Given the description of an element on the screen output the (x, y) to click on. 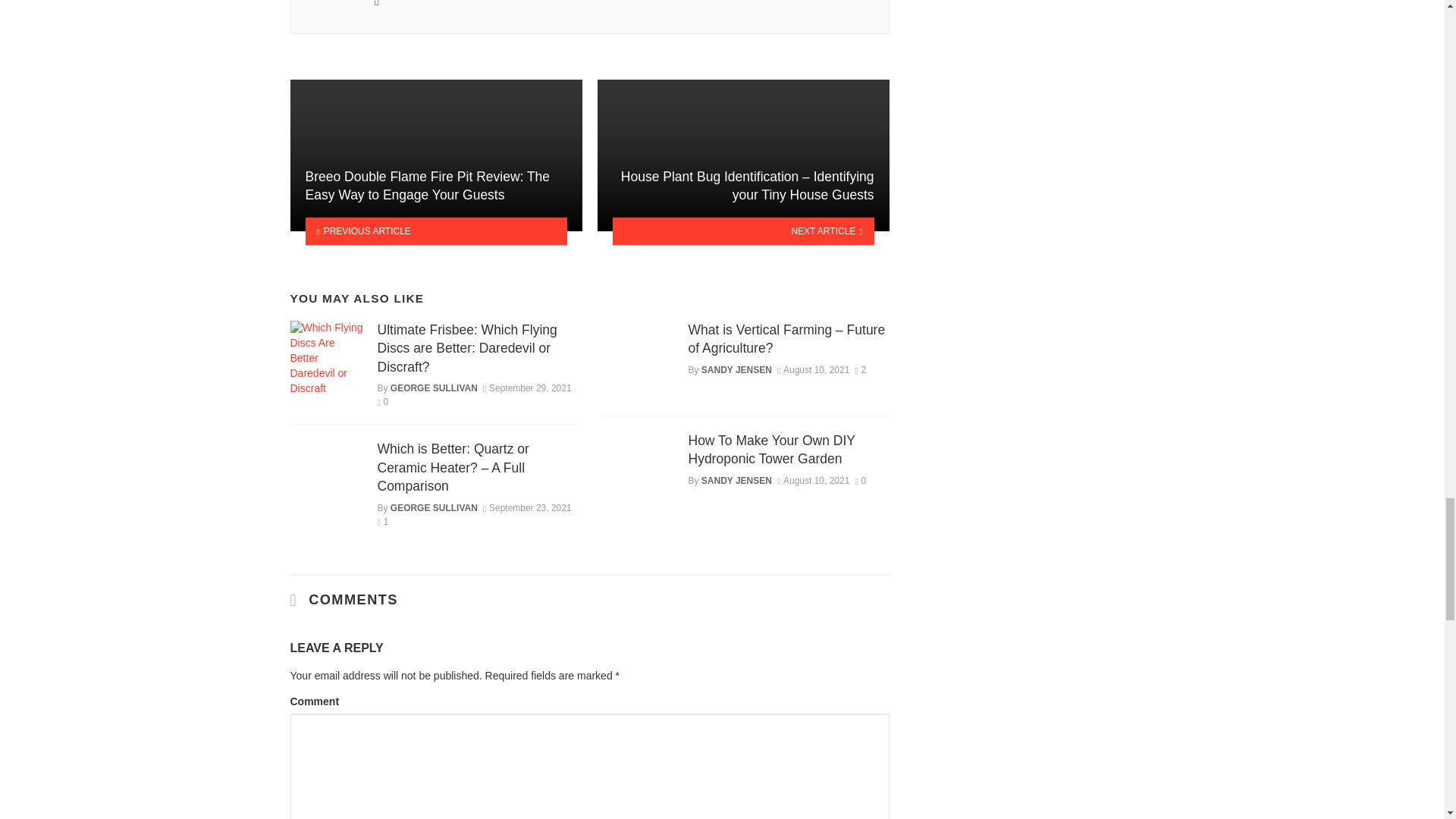
September 29, 2021 at 7:08 am (527, 388)
